Given the description of an element on the screen output the (x, y) to click on. 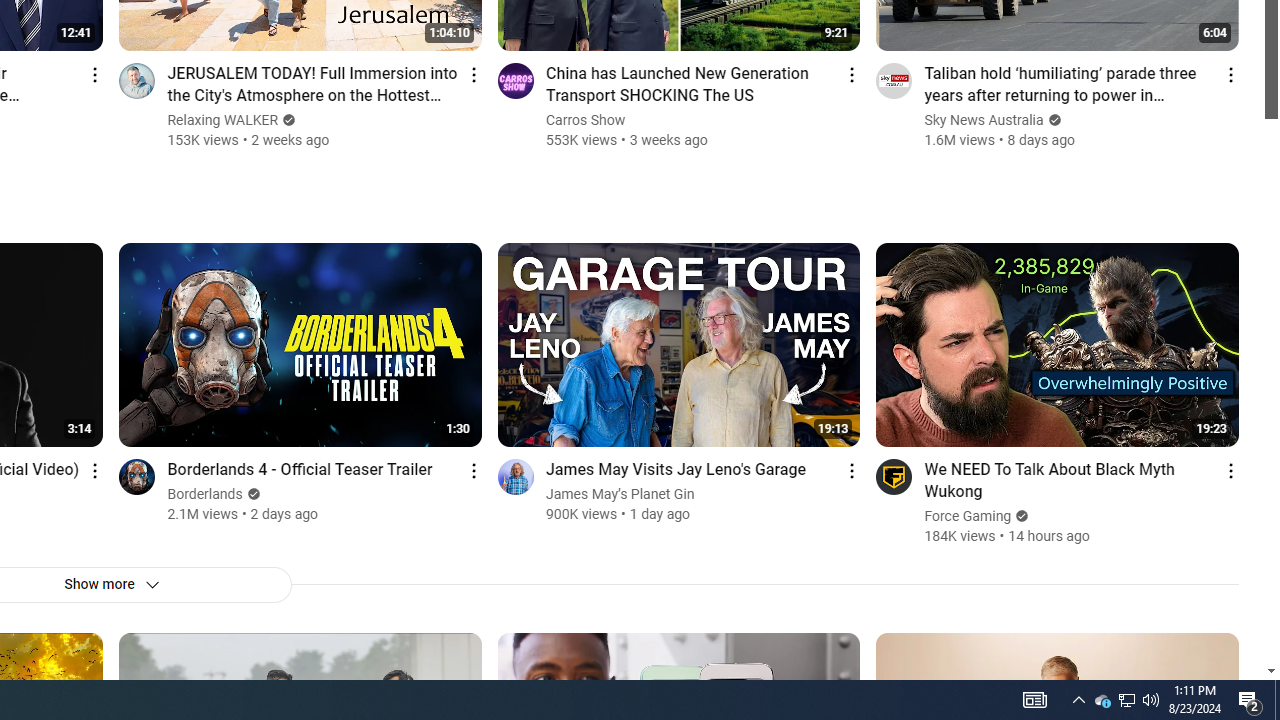
Relaxing WALKER (223, 120)
Verified (1020, 516)
Action menu (1229, 470)
Force Gaming (968, 516)
Carros Show (586, 120)
Sky News Australia (984, 120)
Go to channel (893, 476)
Borderlands (205, 493)
